Given the description of an element on the screen output the (x, y) to click on. 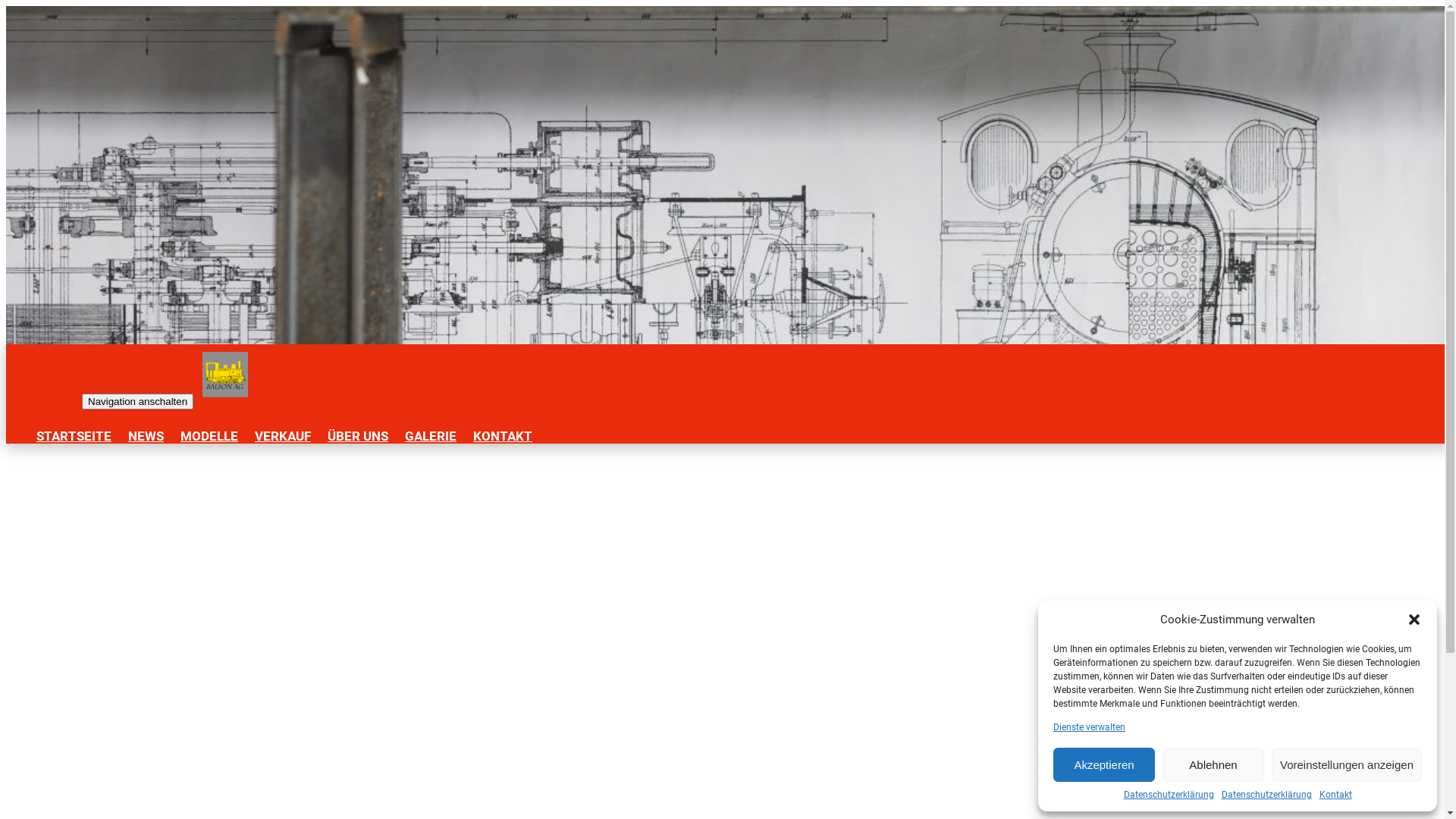
STARTSEITE Element type: text (73, 435)
VERKAUF Element type: text (282, 435)
Kontakt Element type: text (1335, 794)
Akzeptieren Element type: text (1103, 764)
Dienste verwalten Element type: text (1089, 726)
GALERIE Element type: text (430, 435)
Navigation anschalten Element type: text (137, 401)
KONTAKT Element type: text (502, 435)
MODELLE Element type: text (209, 435)
Ablehnen Element type: text (1213, 764)
NEWS Element type: text (145, 435)
Voreinstellungen anzeigen Element type: text (1346, 764)
